Given the description of an element on the screen output the (x, y) to click on. 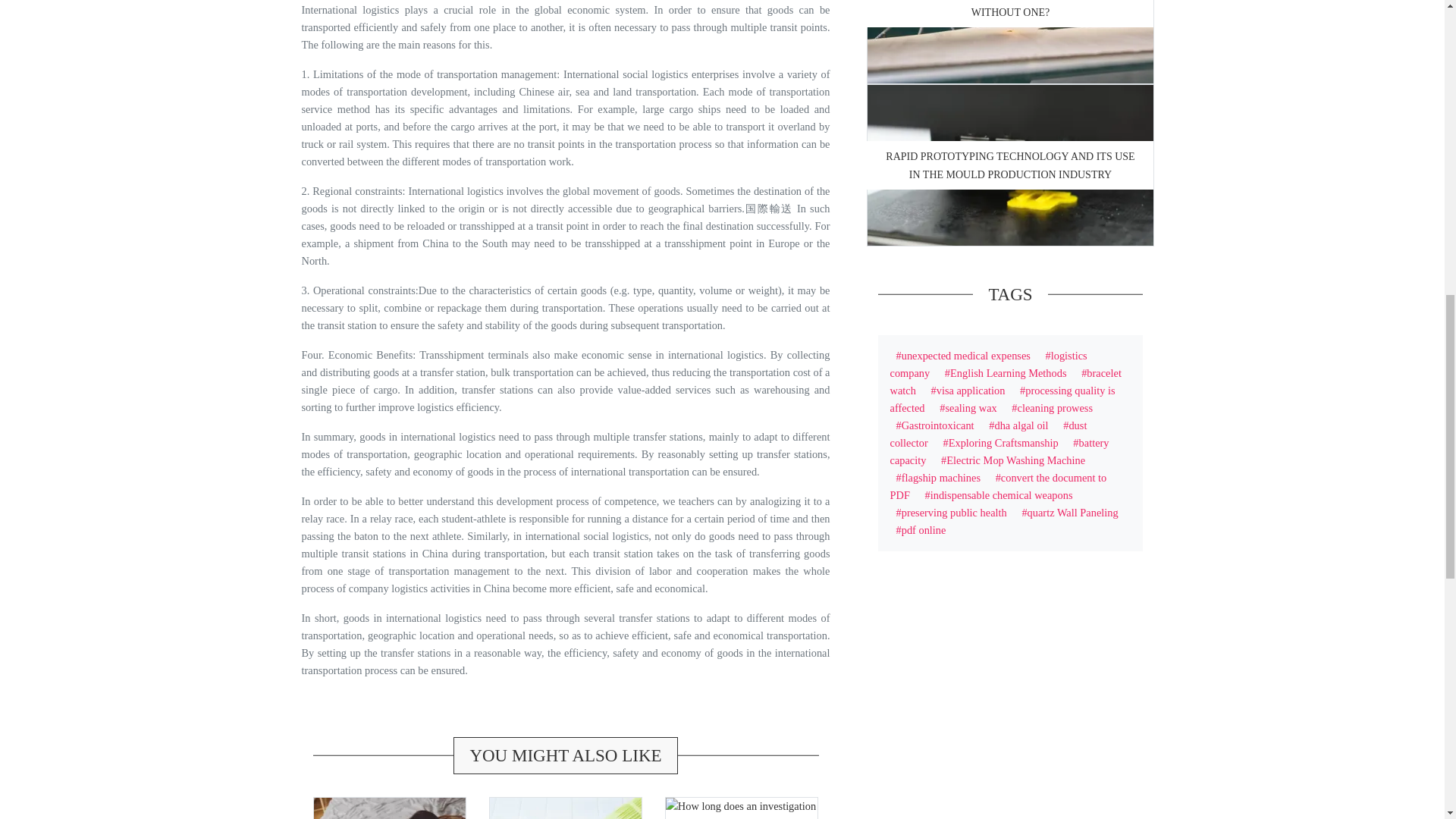
HOW MUCH DOES A SMALL ENGRAVER COST WITHOUT ONE? (1009, 9)
unexpected medical expenses (962, 355)
